Given the description of an element on the screen output the (x, y) to click on. 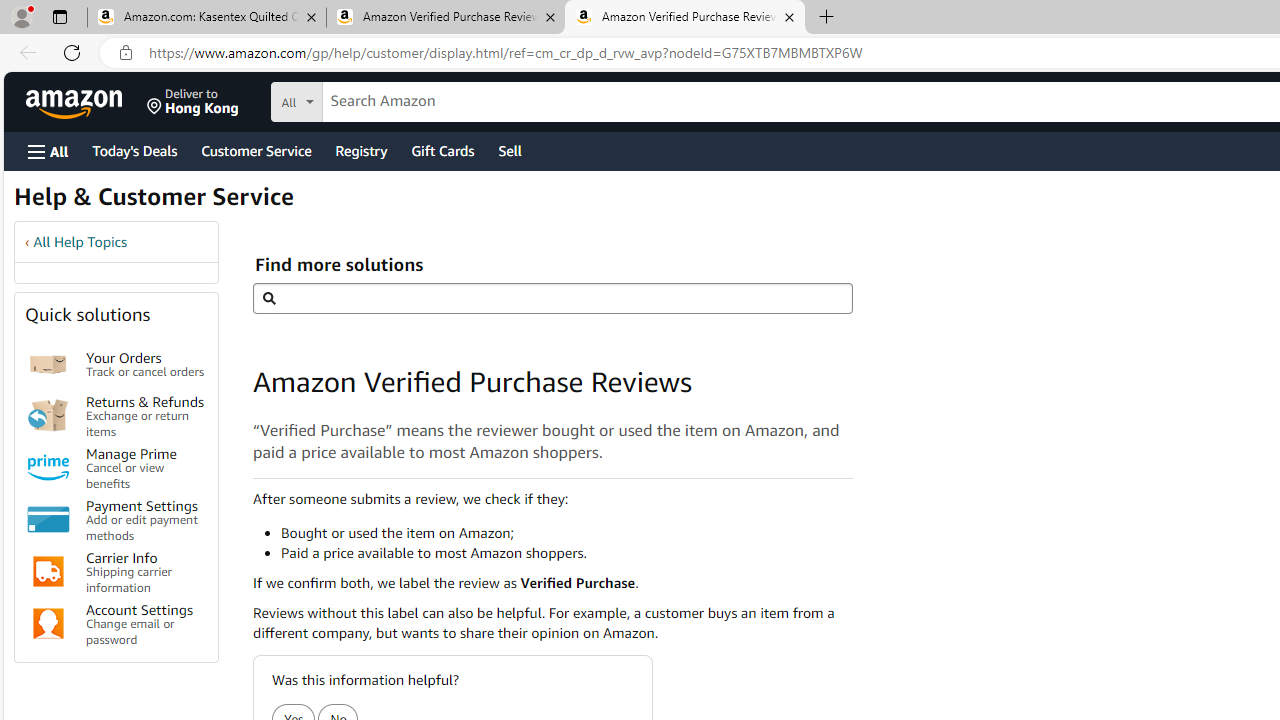
Amazon Verified Purchase Reviews - Amazon Customer Service (684, 17)
Manage Prime Cancel or view benefits (145, 466)
Manage Prime (48, 467)
Bought or used the item on Amazon; (566, 532)
Payment Settings Add or edit payment methods (145, 519)
New Tab (826, 17)
Amazon (76, 101)
Account Settings (48, 623)
Manage Prime (48, 467)
Help & Customer Service (154, 201)
Paid a price available to most Amazon shoppers. (566, 552)
Tab actions menu (59, 16)
Your Orders Track or cancel orders (145, 363)
Open Menu (48, 151)
